Given the description of an element on the screen output the (x, y) to click on. 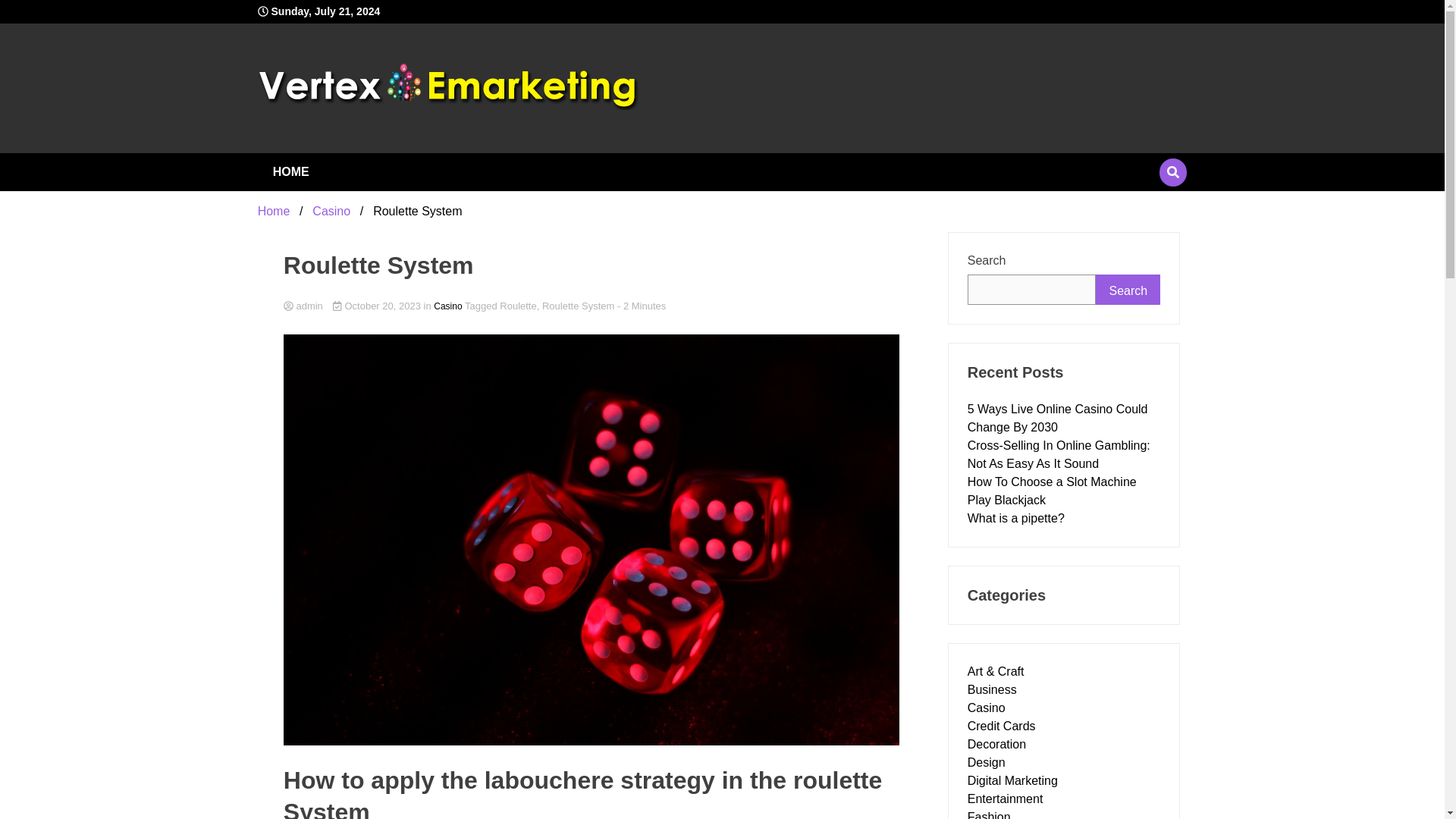
Credit Cards (1001, 725)
5 Ways Live Online Casino Could Change By 2030 (1058, 418)
Play Blackjack (1006, 499)
What is a pipette? (1016, 517)
Roulette System (577, 306)
Cross-Selling In Online Gambling: Not As Easy As It Sound (1059, 454)
How To Choose a Slot Machine (1052, 481)
HOME (290, 171)
Search (1128, 289)
Casino (331, 210)
Casino (987, 707)
admin (591, 306)
October 20, 2023 (378, 306)
vertexemarketing (497, 146)
Home (273, 210)
